Given the description of an element on the screen output the (x, y) to click on. 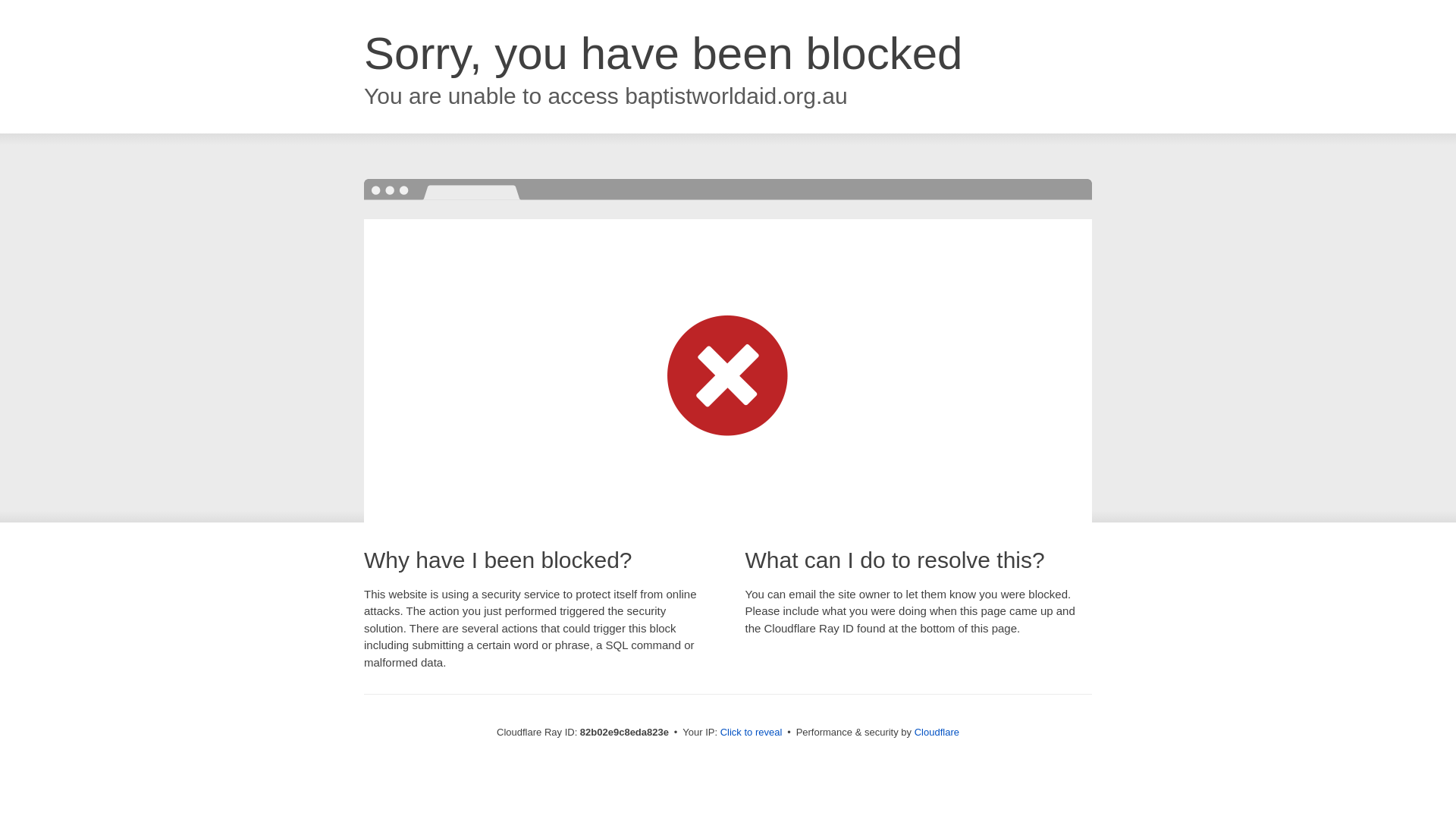
Cloudflare Element type: text (936, 731)
Click to reveal Element type: text (751, 732)
